Given the description of an element on the screen output the (x, y) to click on. 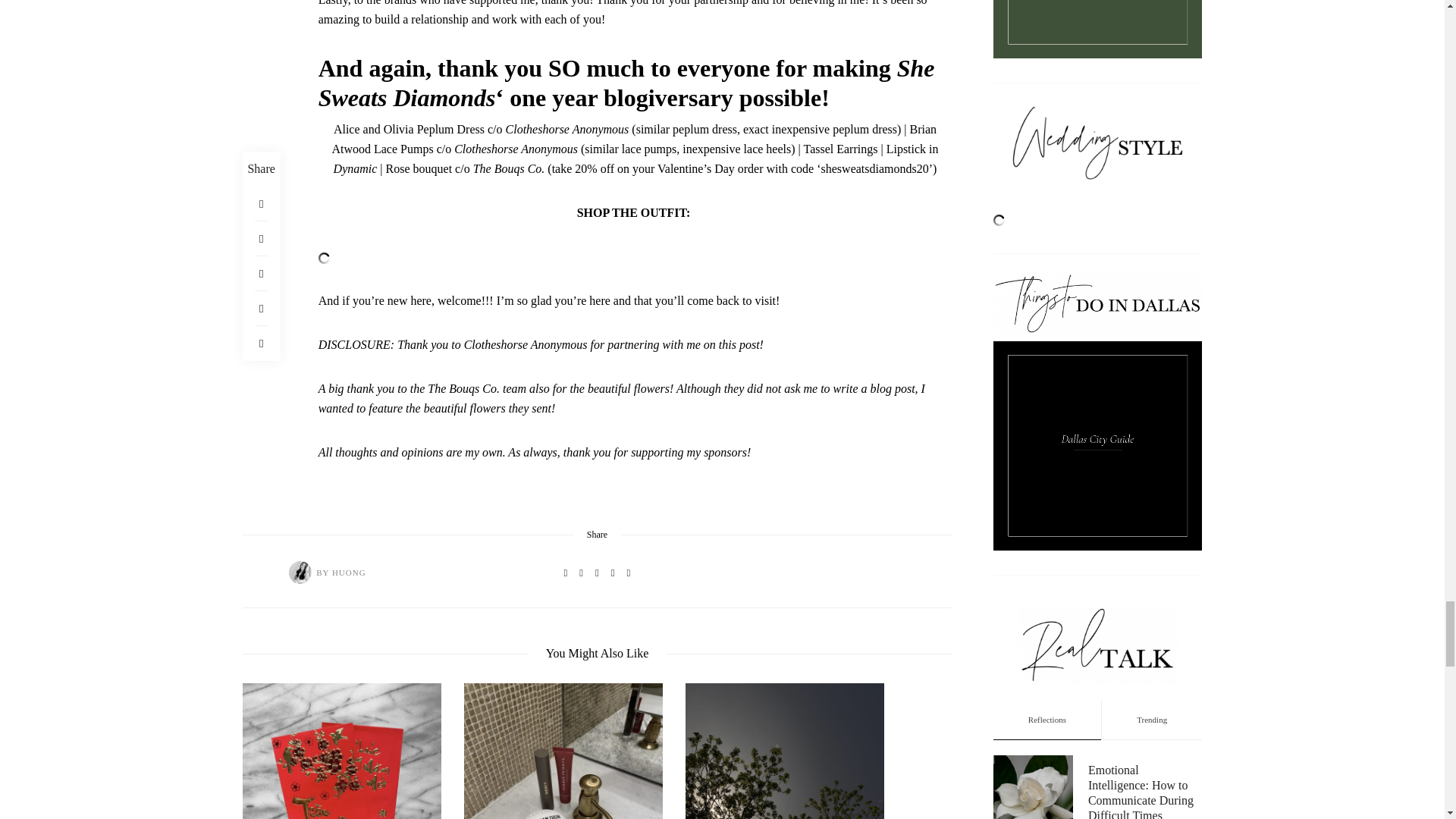
Posts by Huong (348, 572)
Posts by Huong (300, 572)
